Given the description of an element on the screen output the (x, y) to click on. 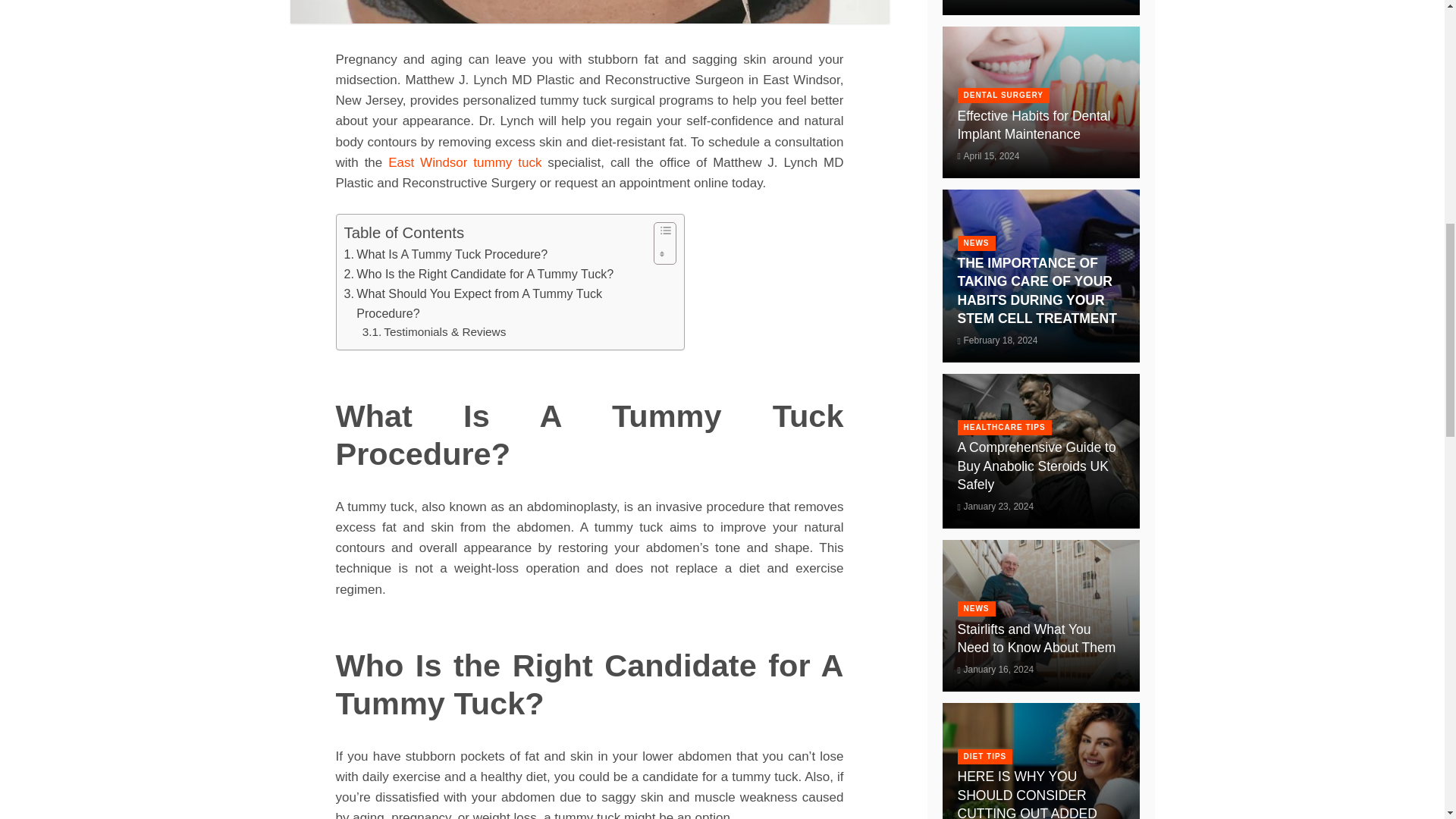
What Is A Tummy Tuck Procedure? (445, 254)
Who Is the Right Candidate for A Tummy Tuck? (478, 274)
What Should You Expect from A Tummy Tuck Procedure? (494, 303)
What Should You Expect from A Tummy Tuck Procedure? (494, 303)
East Windsor tummy tuck (461, 162)
What Is A Tummy Tuck Procedure? (445, 254)
Who Is the Right Candidate for A Tummy Tuck? (478, 274)
